Given the description of an element on the screen output the (x, y) to click on. 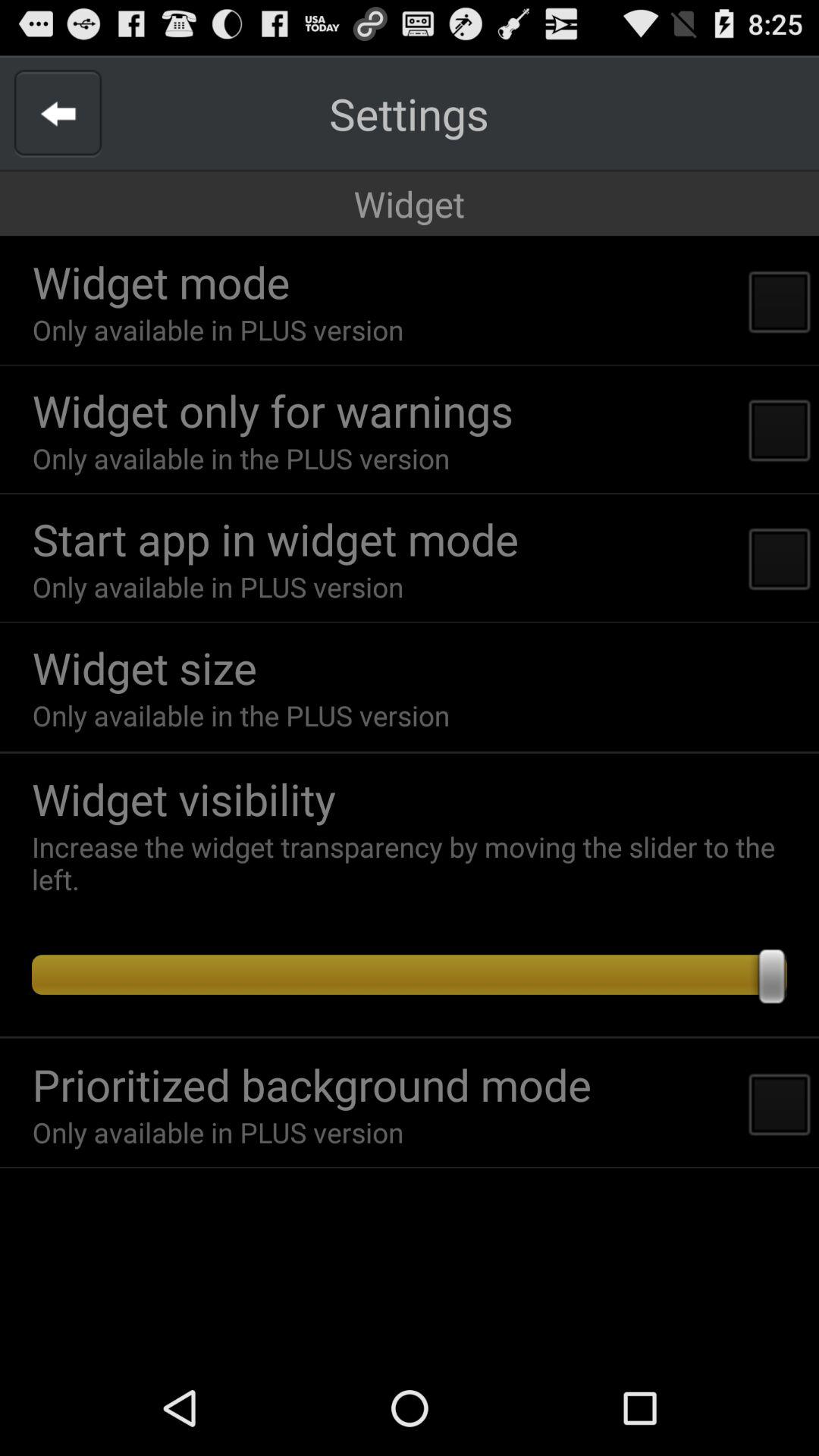
tap the item above widget visibility item (409, 752)
